Given the description of an element on the screen output the (x, y) to click on. 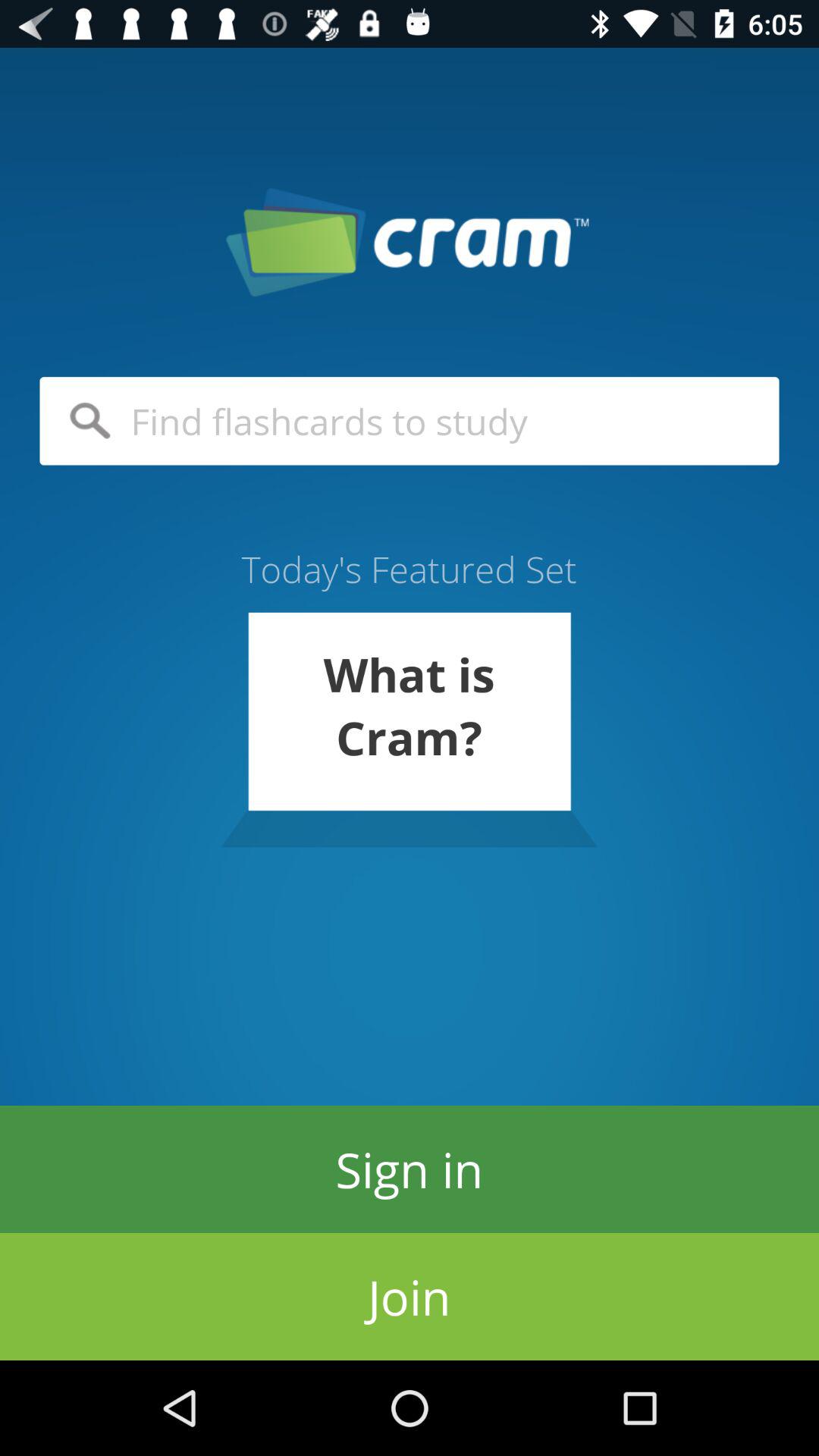
press the icon below today s featured item (408, 729)
